Given the description of an element on the screen output the (x, y) to click on. 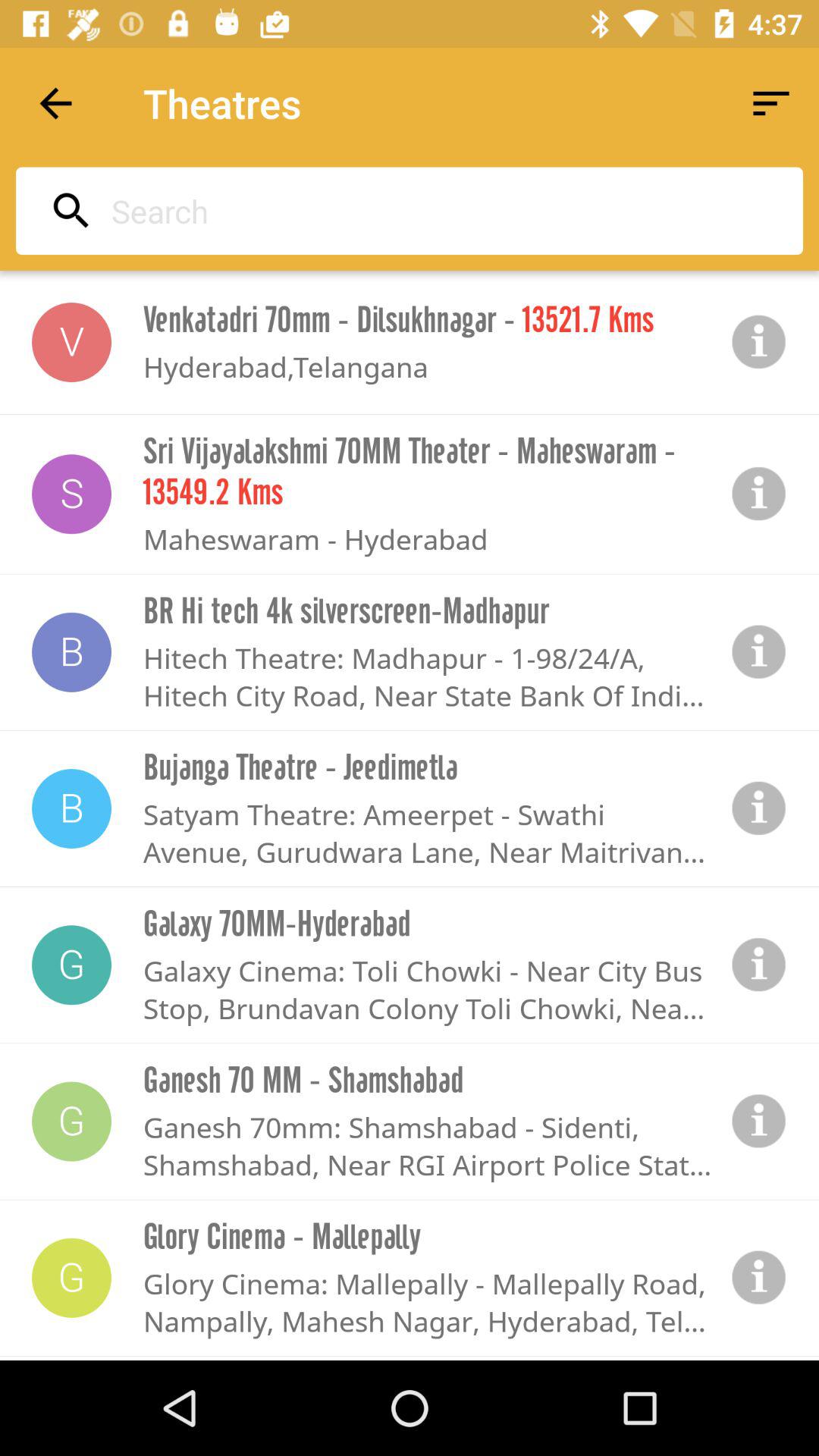
information (759, 1121)
